Given the description of an element on the screen output the (x, y) to click on. 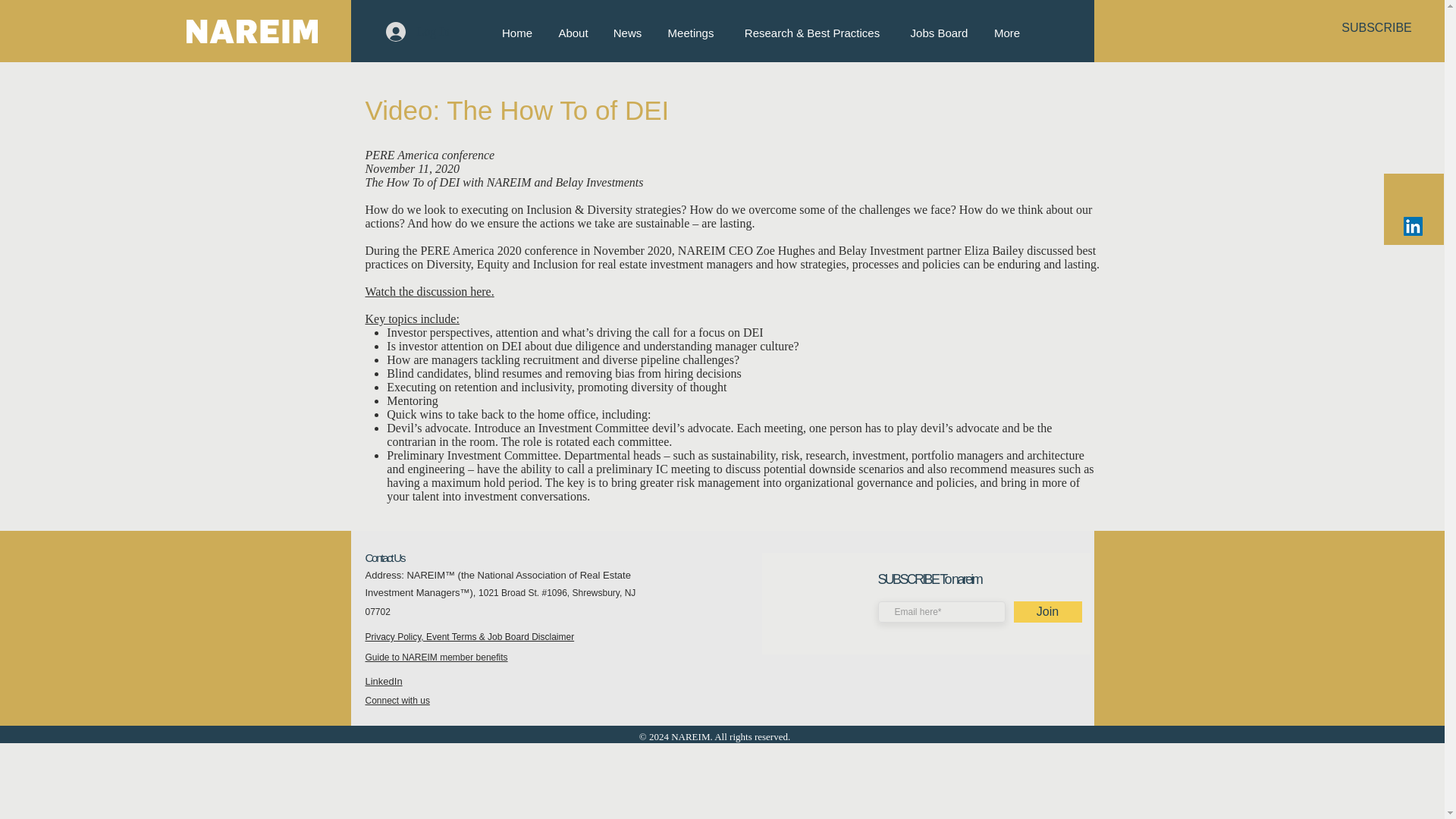
LinkedIn (384, 681)
Connect with us (397, 700)
Watch the discussion here (428, 291)
Guide to NAREIM member benefits (436, 656)
Jobs Board (938, 32)
Meetings (689, 32)
Log In (417, 31)
Contact Us (384, 557)
About (573, 32)
News (626, 32)
